Given the description of an element on the screen output the (x, y) to click on. 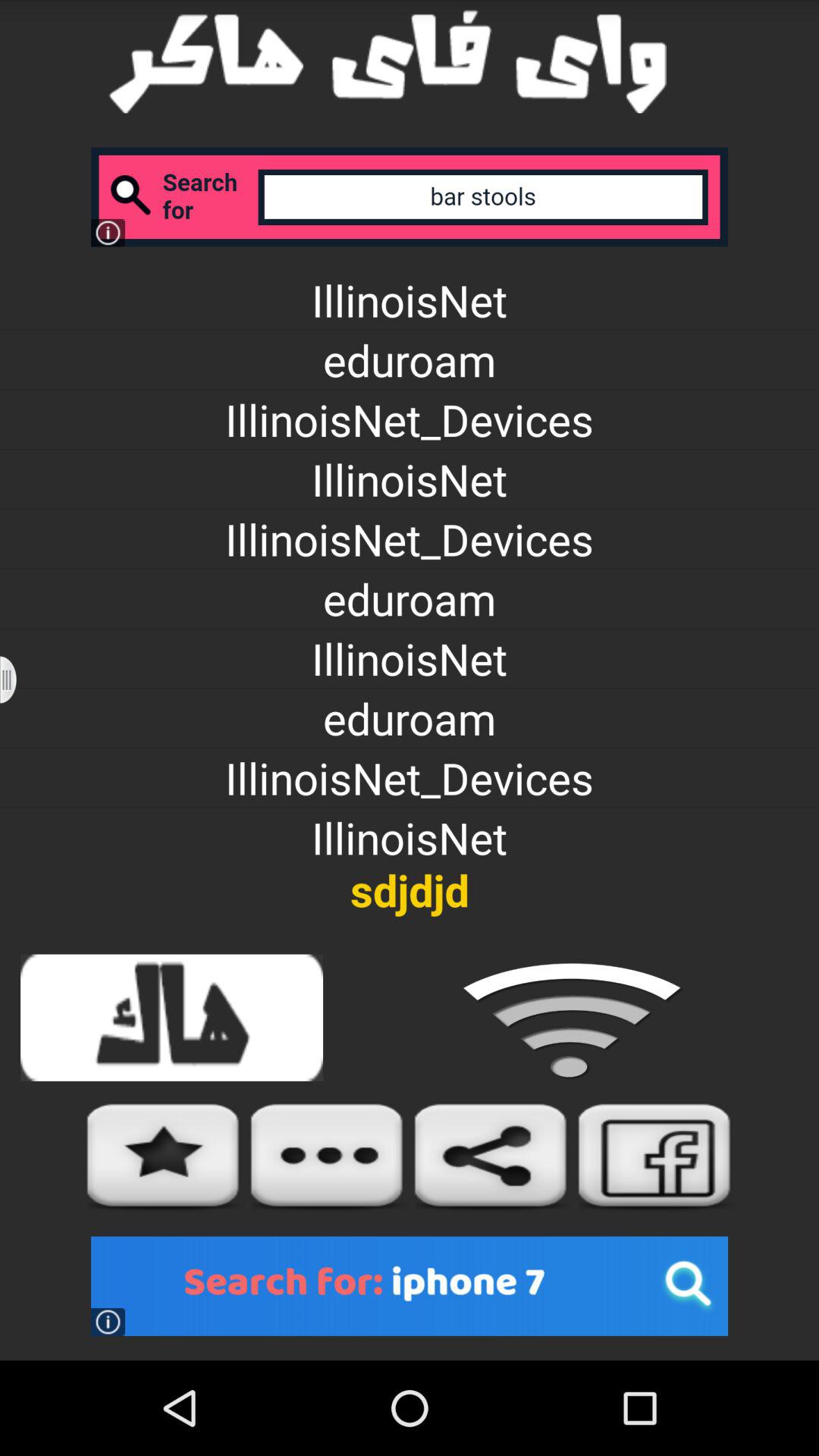
click icon on the left (18, 679)
